Given the description of an element on the screen output the (x, y) to click on. 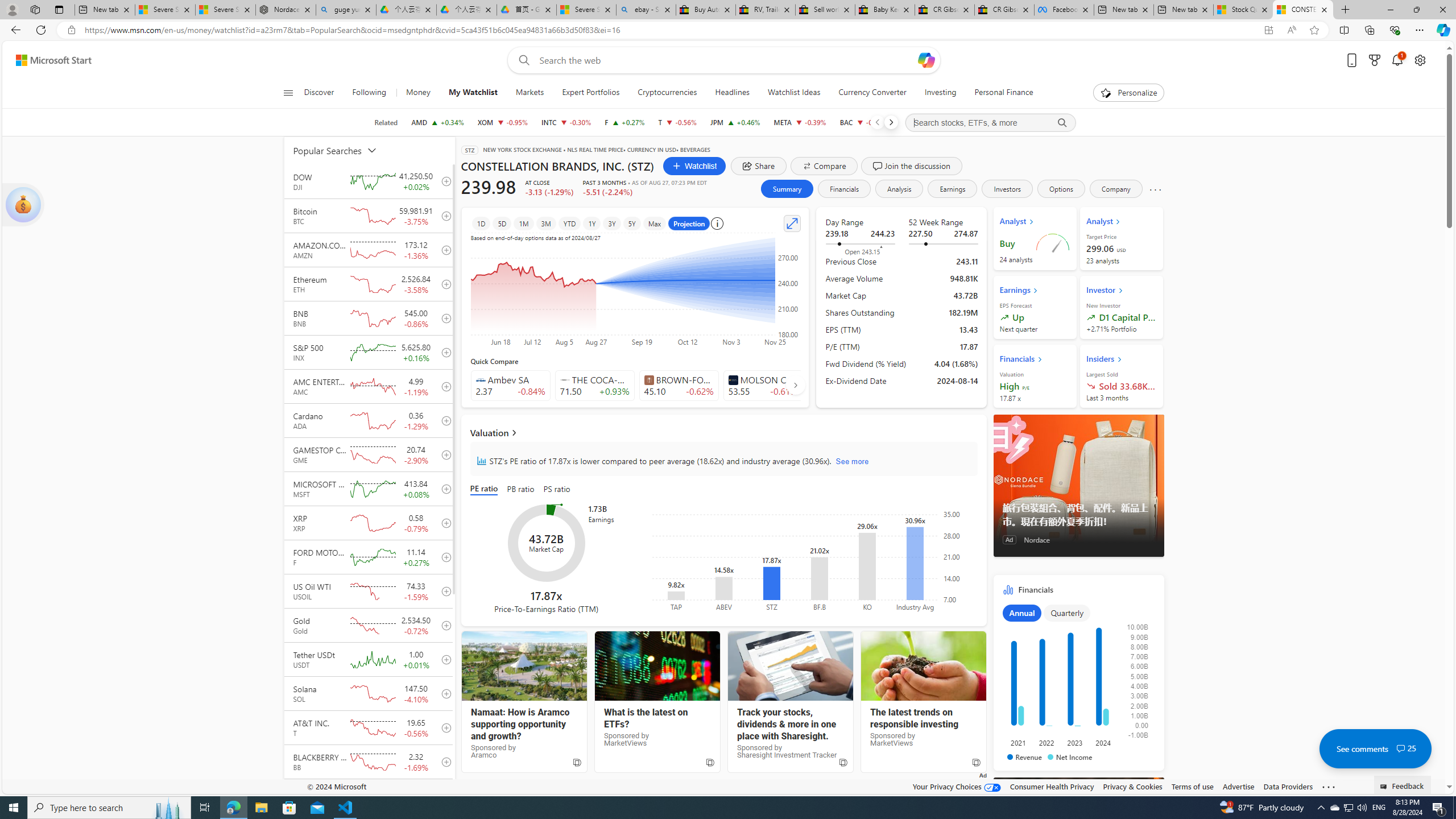
Headlines (731, 92)
Privacy & Cookies (1131, 786)
Quarterly (1066, 612)
Headlines (732, 92)
Data Providers (1288, 786)
Summary (787, 188)
Company (1115, 188)
Markets (529, 92)
F FORD MOTOR COMPANY increase 11.14 +0.03 +0.27% (625, 122)
